Given the description of an element on the screen output the (x, y) to click on. 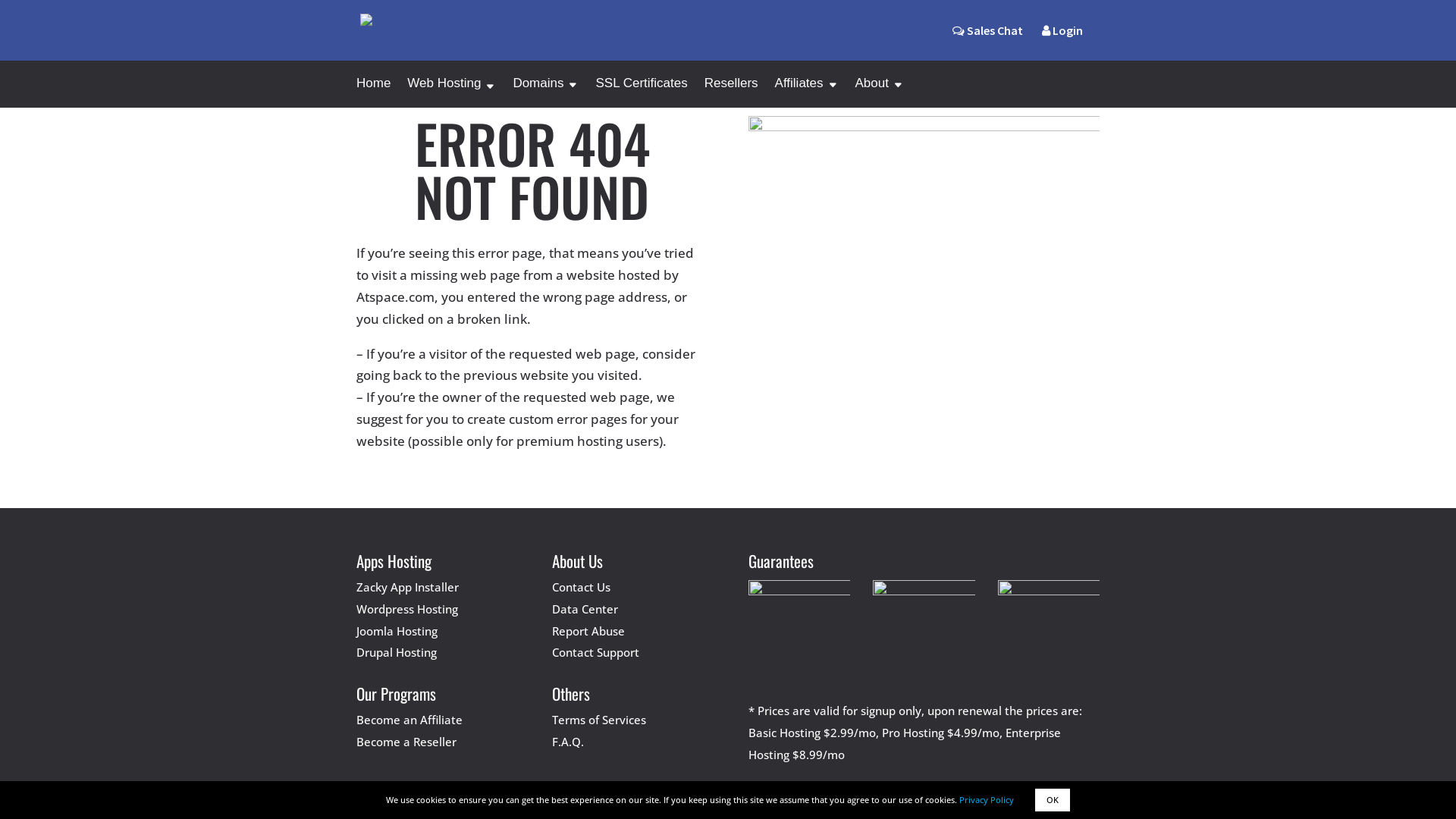
Drupal Hosting Element type: text (396, 651)
Resellers Element type: text (731, 92)
Data Center Element type: text (585, 608)
Home Element type: text (373, 92)
Report Abuse Element type: text (588, 630)
Become an Affiliate Element type: text (409, 719)
Wordpress Hosting Element type: text (407, 608)
OK Element type: text (1052, 799)
About Element type: text (879, 92)
Contact Us Element type: text (581, 586)
F.A.Q. Element type: text (567, 741)
Zetta Hosting Solutions ltd Element type: text (826, 791)
Terms of Services Element type: text (599, 719)
SSL Certificates Element type: text (641, 92)
Web Hosting Element type: text (451, 92)
Domains Element type: text (545, 92)
Become a Reseller Element type: text (406, 741)
Sales Chat Element type: text (987, 29)
Sales Chat Element type: text (987, 42)
AttractSoft GmbH Element type: text (683, 791)
Joomla Hosting Element type: text (396, 630)
Login Element type: text (1061, 42)
Affiliates Element type: text (806, 92)
Contact Support Element type: text (595, 651)
Privacy Policy Element type: text (986, 799)
Zacky App Installer Element type: text (407, 586)
